Given the description of an element on the screen output the (x, y) to click on. 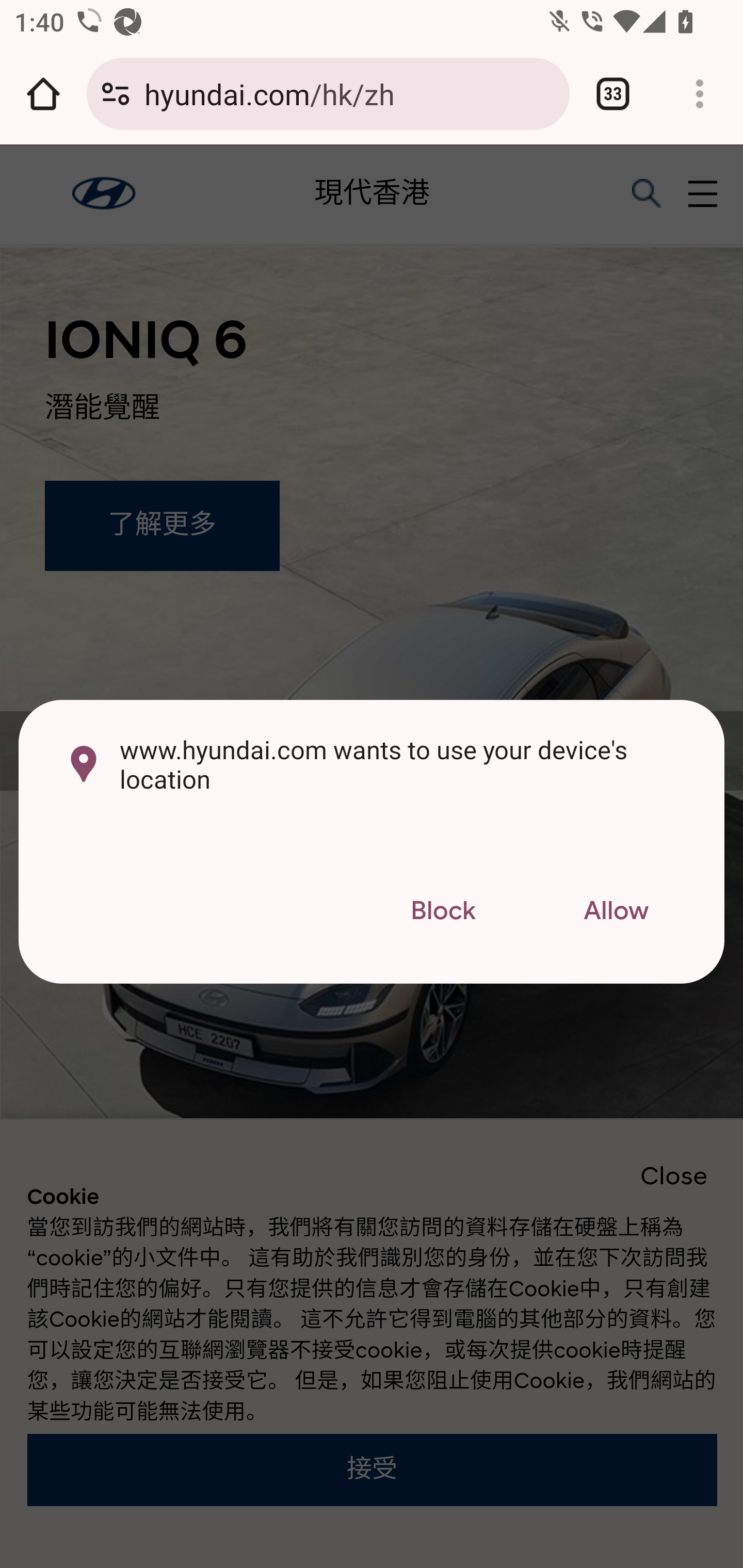
Open the home page (43, 93)
Connection is secure (115, 93)
Switch or close tabs (612, 93)
Customize and control Google Chrome (699, 93)
hyundai.com/hk/zh (349, 92)
Block (442, 911)
Allow (615, 911)
